Given the description of an element on the screen output the (x, y) to click on. 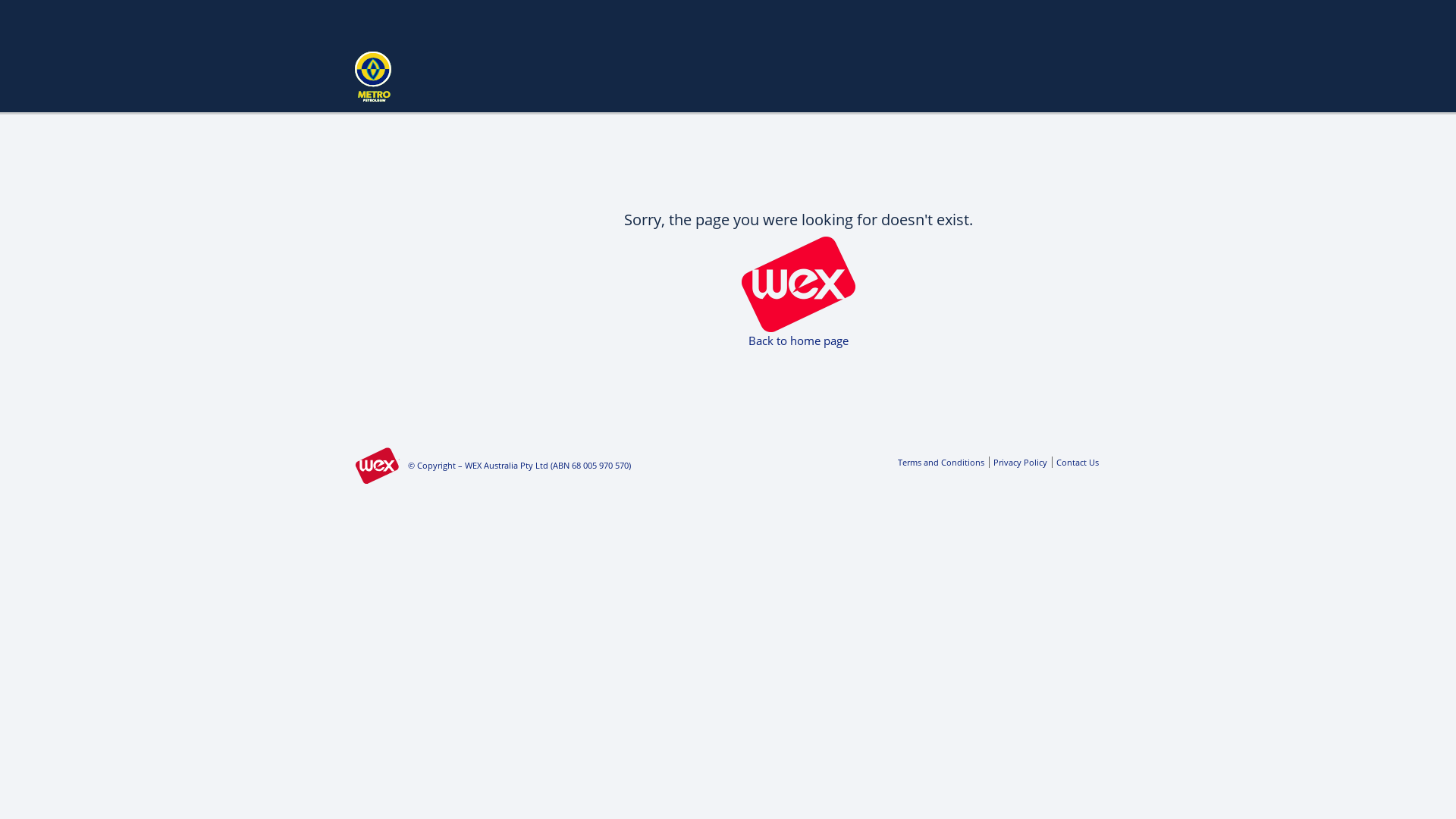
Privacy Policy Element type: text (1017, 461)
Terms and Conditions Element type: text (940, 461)
Back to home page Element type: text (798, 340)
Contact Us Element type: text (1074, 461)
